Given the description of an element on the screen output the (x, y) to click on. 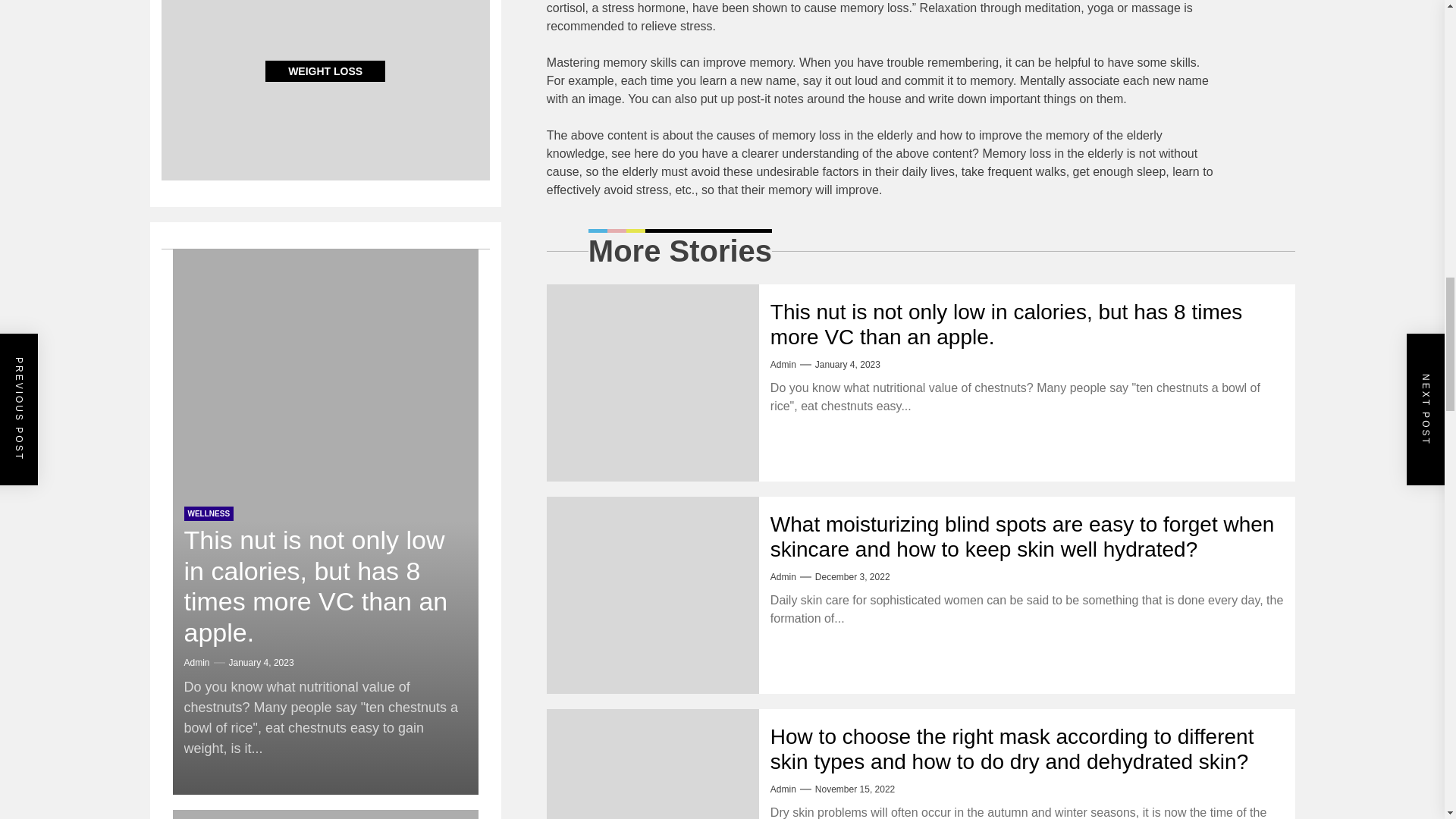
Admin (783, 364)
January 4, 2023 (847, 364)
December 3, 2022 (852, 576)
Admin (783, 576)
Admin (783, 788)
November 15, 2022 (855, 788)
